Given the description of an element on the screen output the (x, y) to click on. 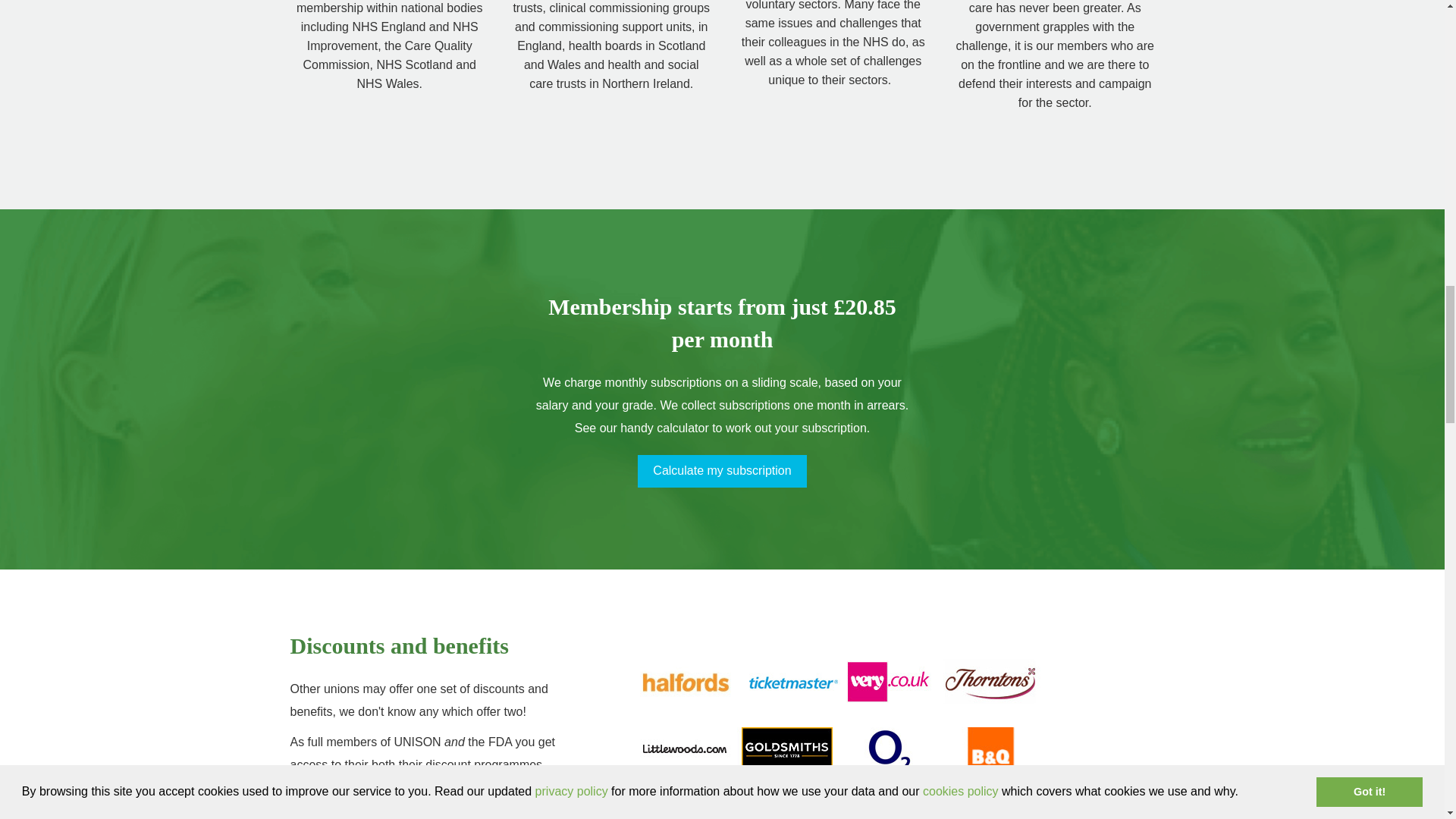
discounts-main3 (831, 724)
